Given the description of an element on the screen output the (x, y) to click on. 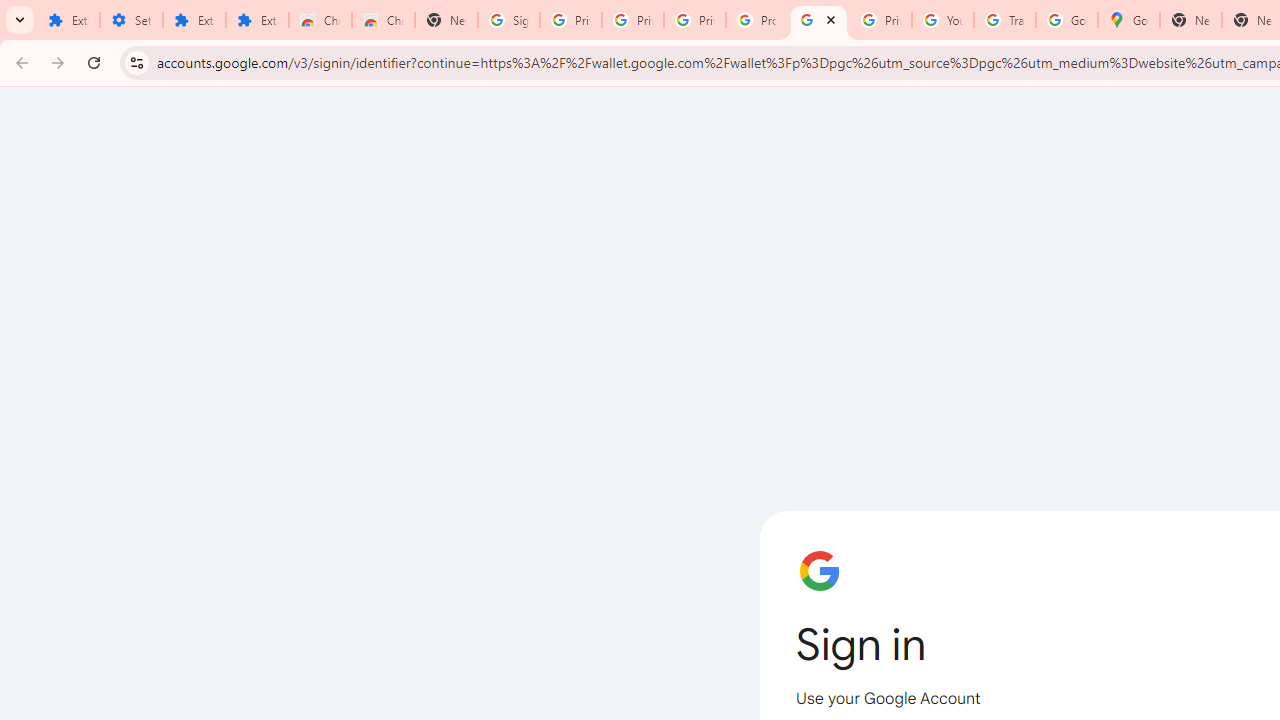
New Tab (1190, 20)
New Tab (445, 20)
Sign in - Google Accounts (818, 20)
Chrome Web Store - Themes (383, 20)
Sign in - Google Accounts (508, 20)
Extensions (194, 20)
